Given the description of an element on the screen output the (x, y) to click on. 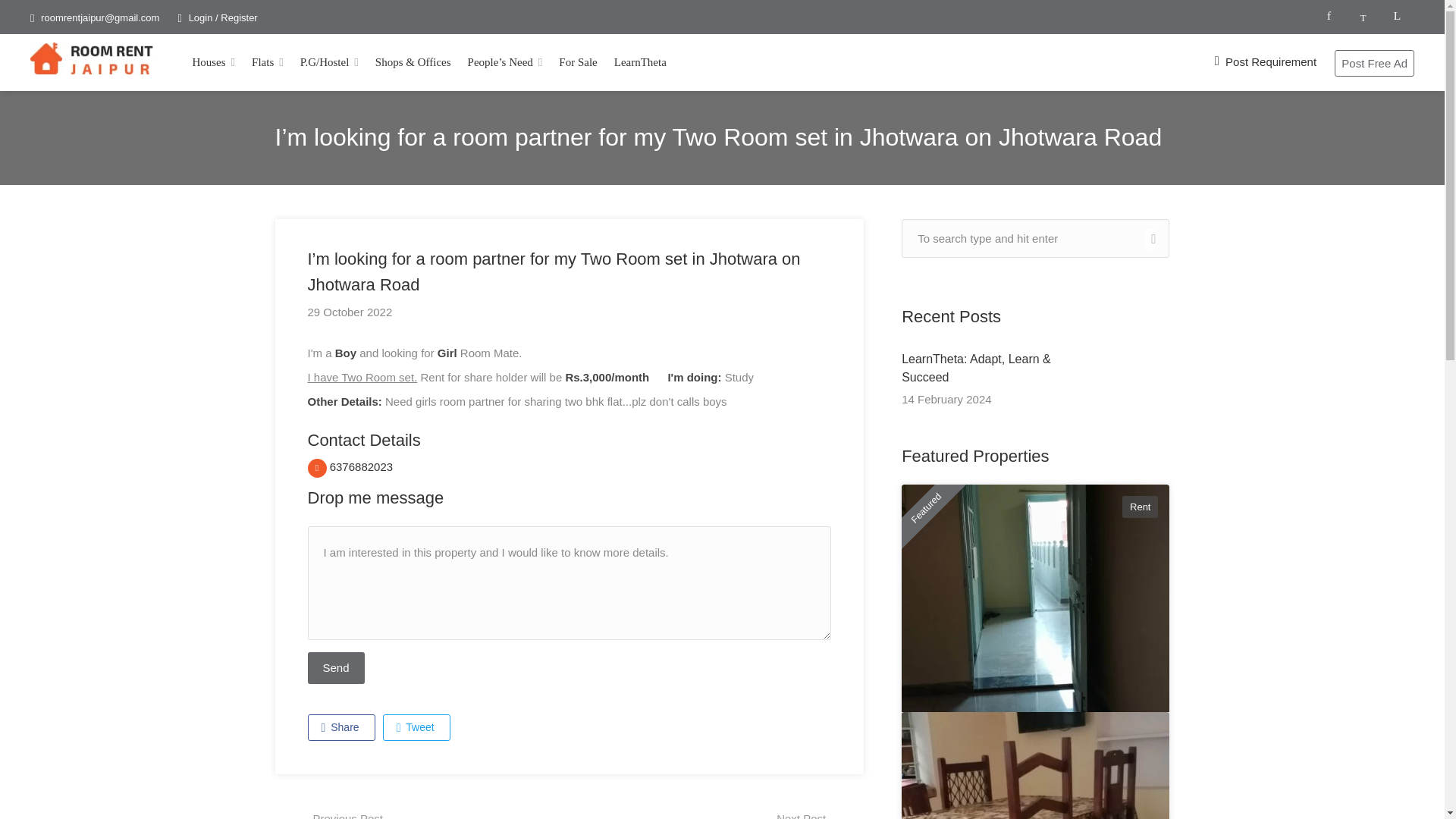
LearnTheta (640, 61)
Flats (267, 61)
Houses (213, 61)
facebook (1328, 17)
Send (336, 667)
Send (336, 667)
Twitter (415, 727)
Tweet (415, 727)
Share (341, 727)
6376882023 (350, 466)
Post Free Ad (1374, 62)
For Sale (577, 61)
linkedin (1396, 17)
Post Requirement (1265, 61)
twitter (1362, 17)
